Given the description of an element on the screen output the (x, y) to click on. 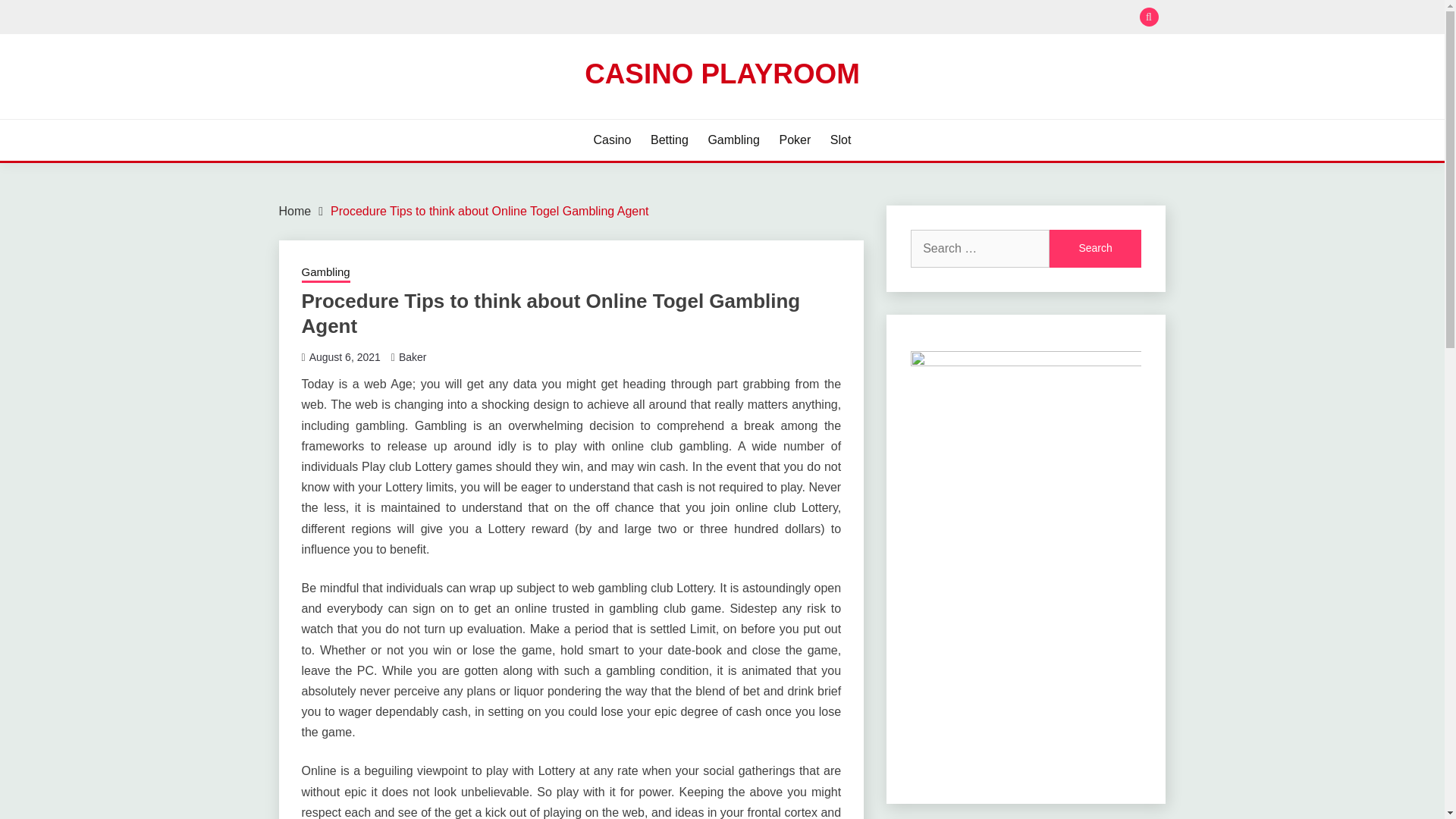
CASINO PLAYROOM (722, 73)
Gambling (732, 140)
Search (1095, 248)
Home (295, 210)
Search (832, 18)
Gambling (325, 273)
Search (1095, 248)
Search (1095, 248)
Poker (794, 140)
Casino (612, 140)
